Given the description of an element on the screen output the (x, y) to click on. 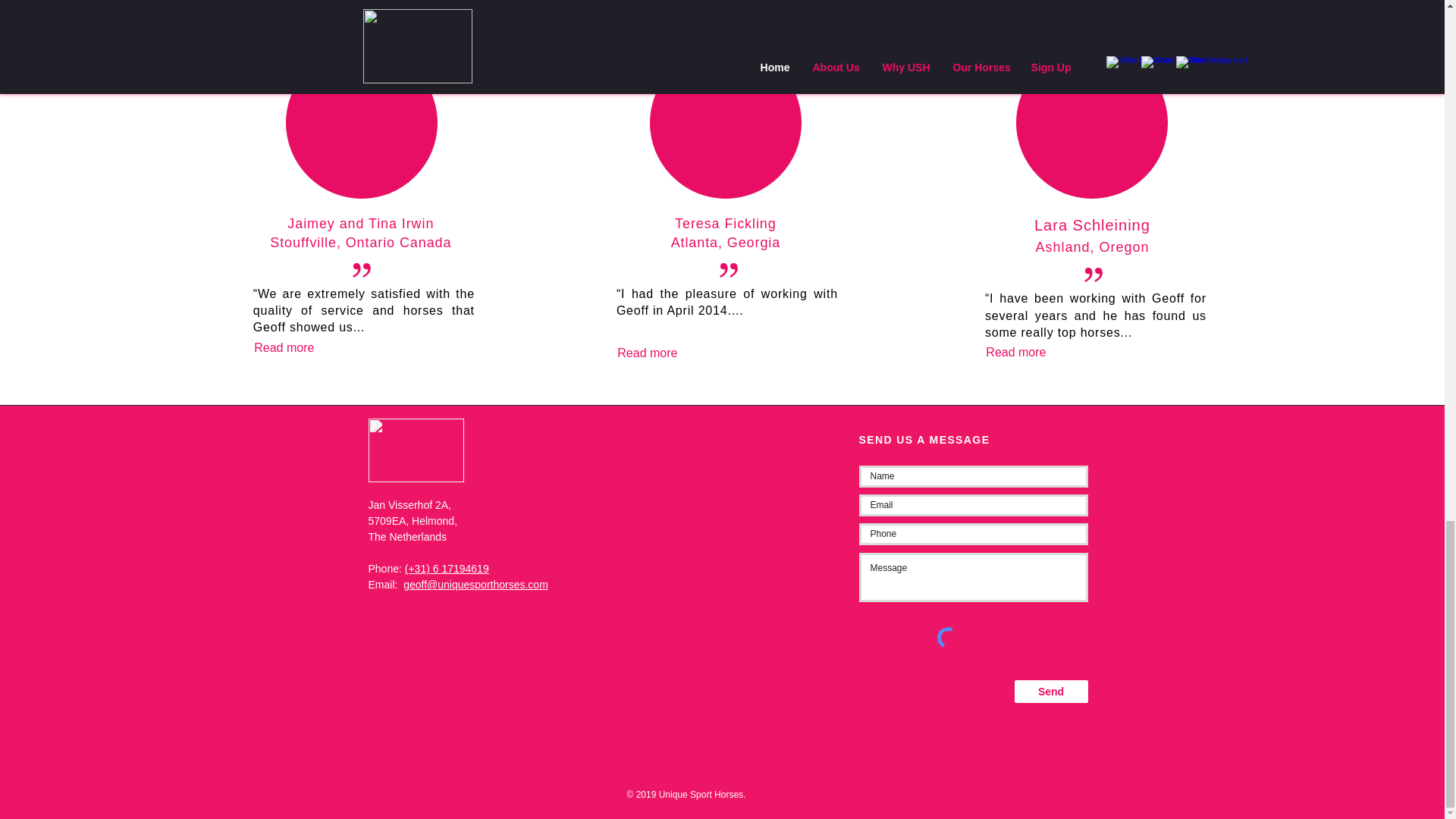
GettyImages-535587703.jpg (361, 122)
logo-trans2.png (416, 450)
GettyImages-145680711.jpg (1091, 122)
Send (1050, 691)
Read more (284, 347)
Read more (646, 353)
Read more (1015, 352)
GettyImages-124893619.jpg (725, 122)
